Given the description of an element on the screen output the (x, y) to click on. 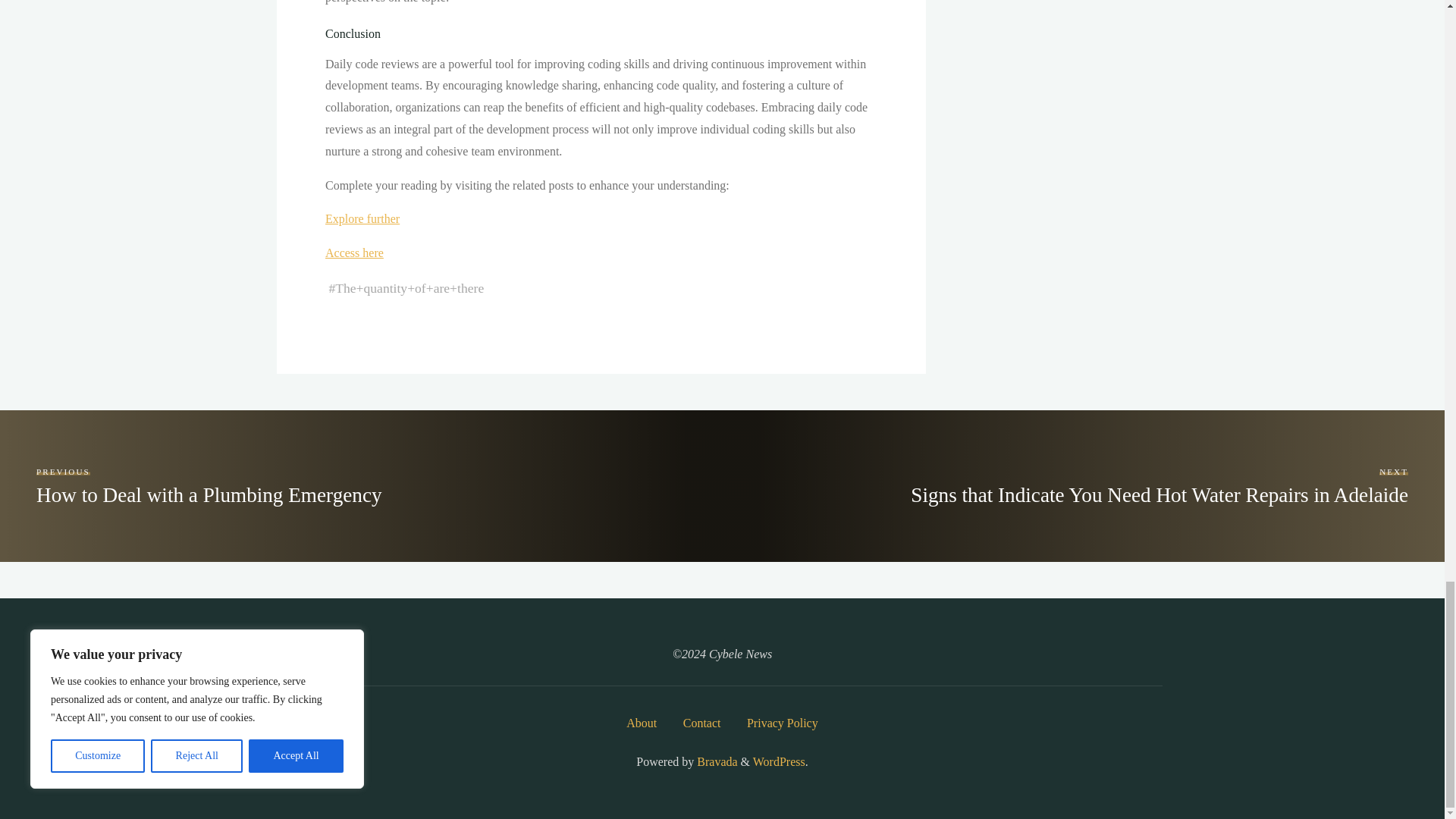
Semantic Personal Publishing Platform (778, 761)
Explore further (361, 218)
Access here (353, 252)
Bravada WordPress Theme by Cryout Creations (715, 761)
